Given the description of an element on the screen output the (x, y) to click on. 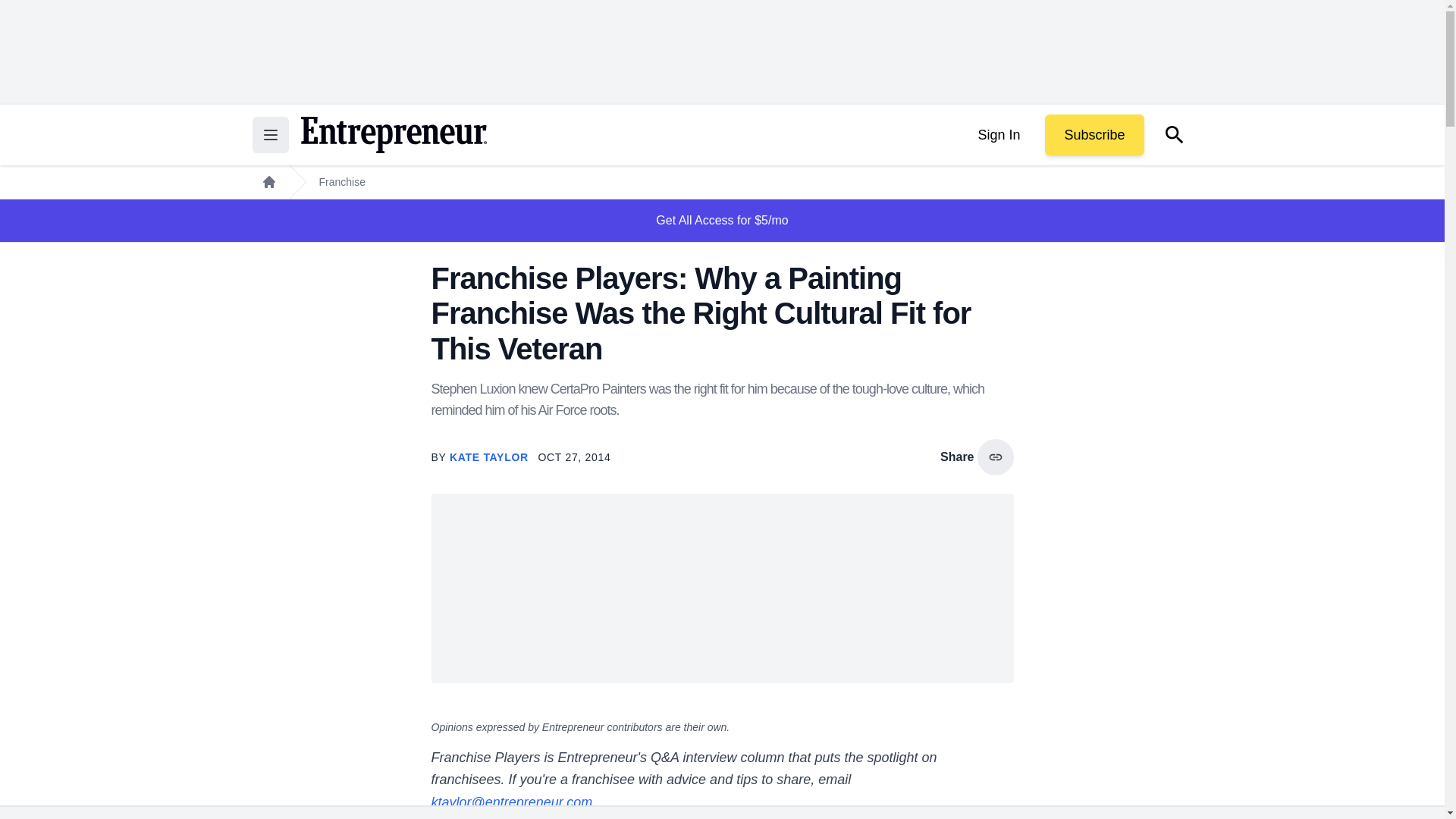
copy (994, 456)
Sign In (998, 134)
Return to the home page (392, 135)
Subscribe (1093, 134)
